Given the description of an element on the screen output the (x, y) to click on. 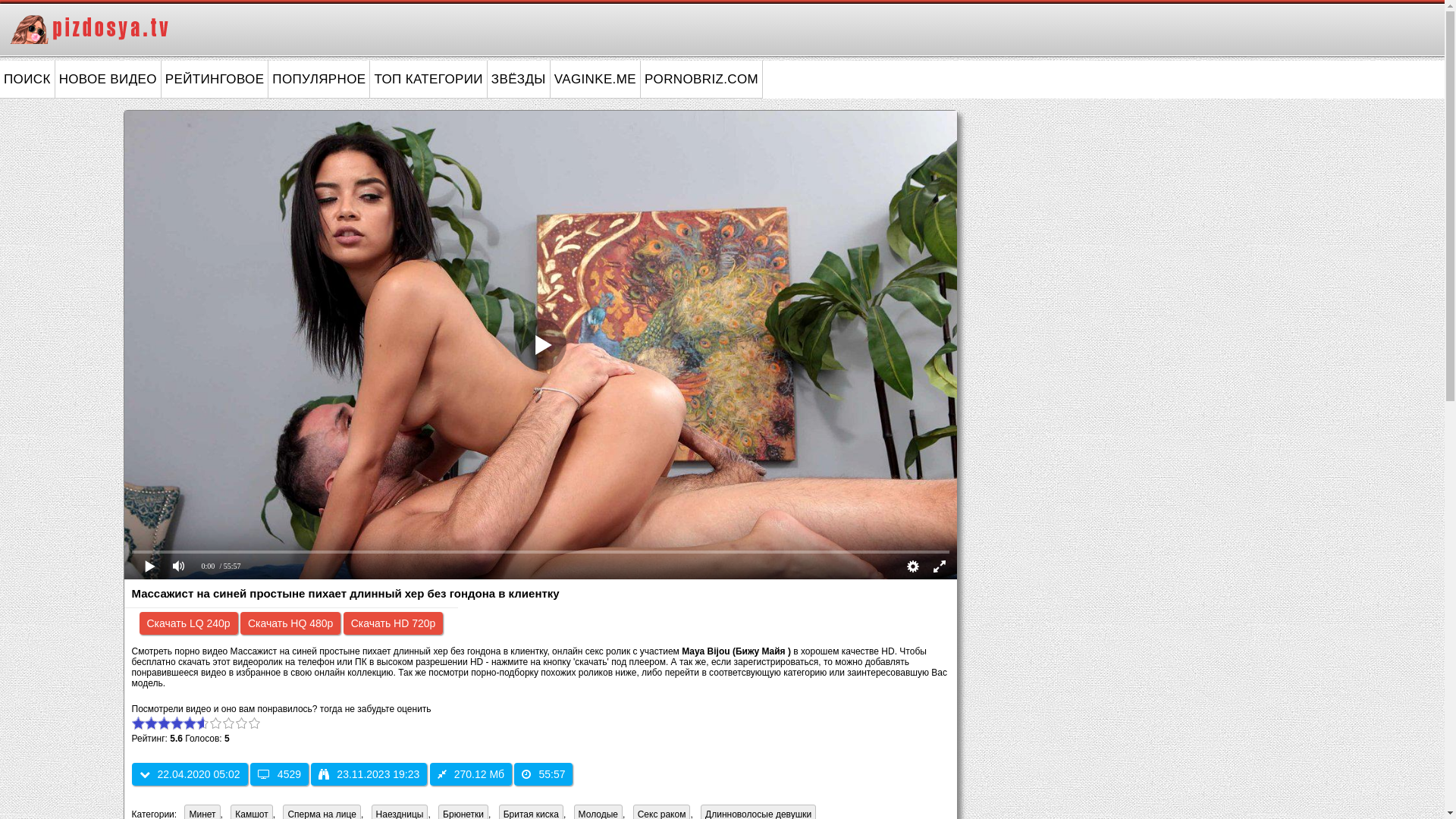
55:57 Element type: text (543, 773)
pjsfrrsnpl Element type: hover (540, 344)
VAGINKE.ME Element type: text (595, 79)
4529 Element type: text (279, 773)
PORNOBRIZ.COM Element type: text (701, 79)
22.04.2020 05:02 Element type: text (189, 773)
23.11.2023 19:23 Element type: text (368, 773)
